Given the description of an element on the screen output the (x, y) to click on. 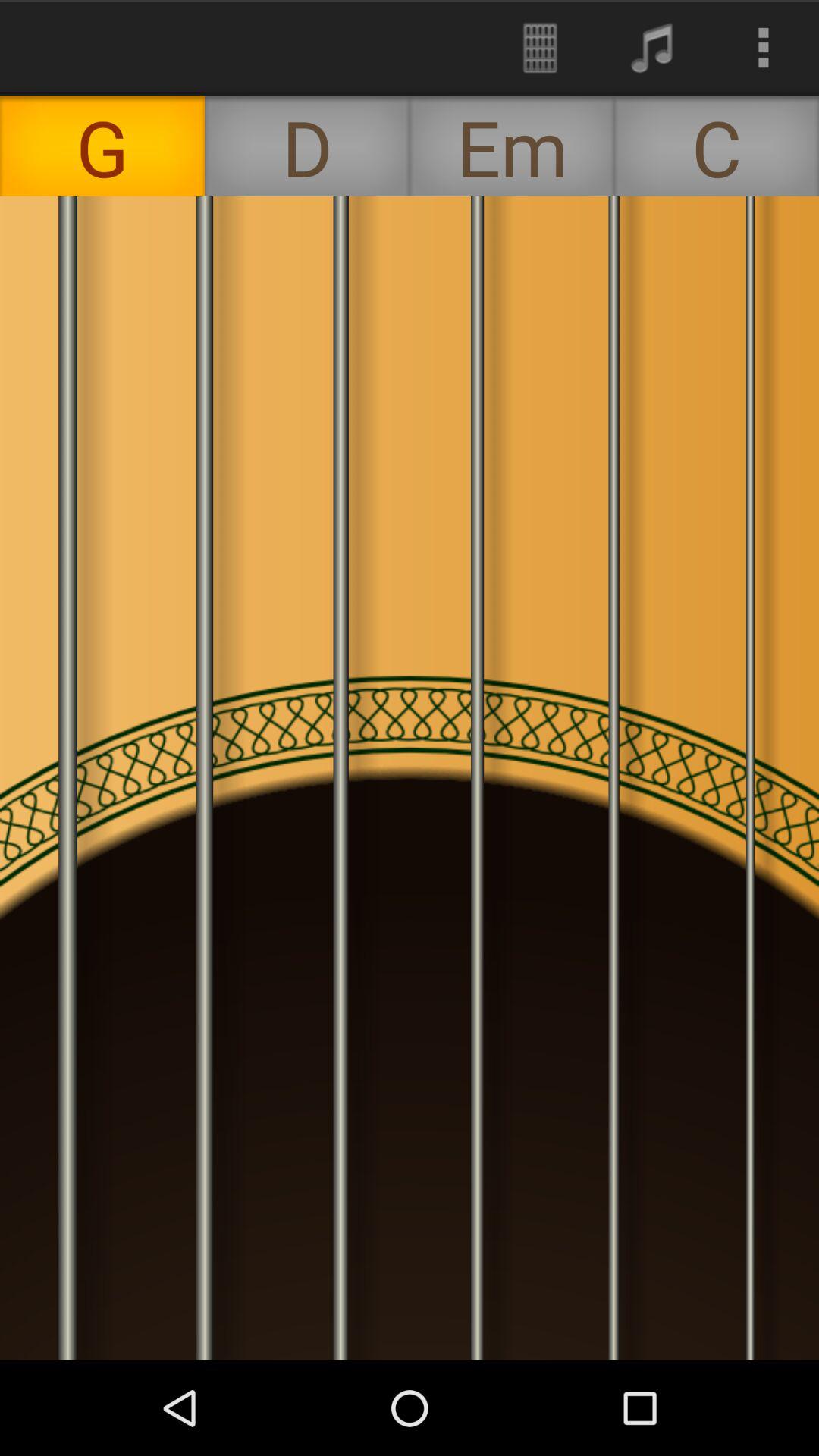
turn on the icon above the c (763, 47)
